Given the description of an element on the screen output the (x, y) to click on. 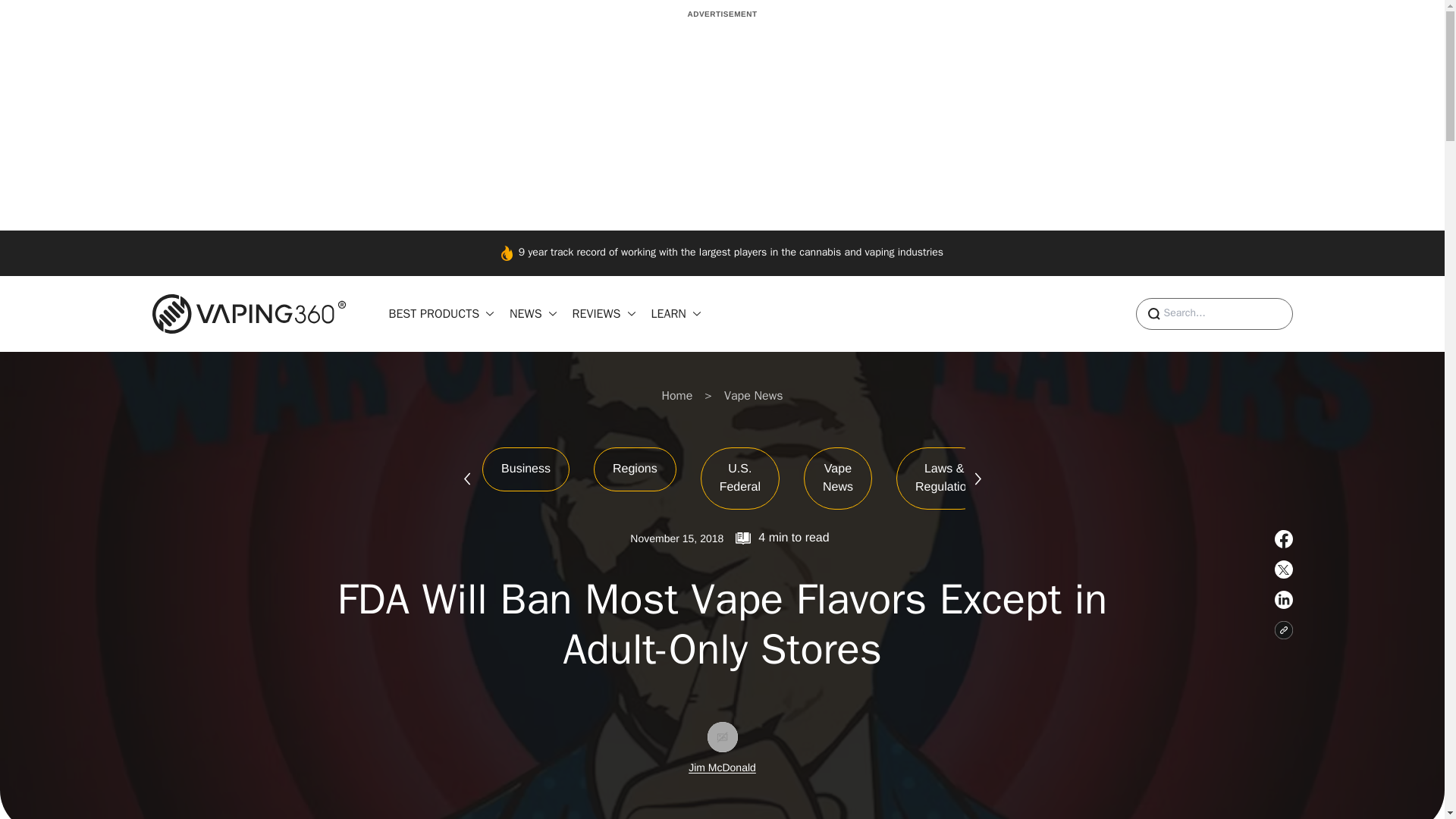
BEST PRODUCTS (442, 313)
Business (525, 469)
REVIEWS (605, 313)
NEWS (534, 313)
